Given the description of an element on the screen output the (x, y) to click on. 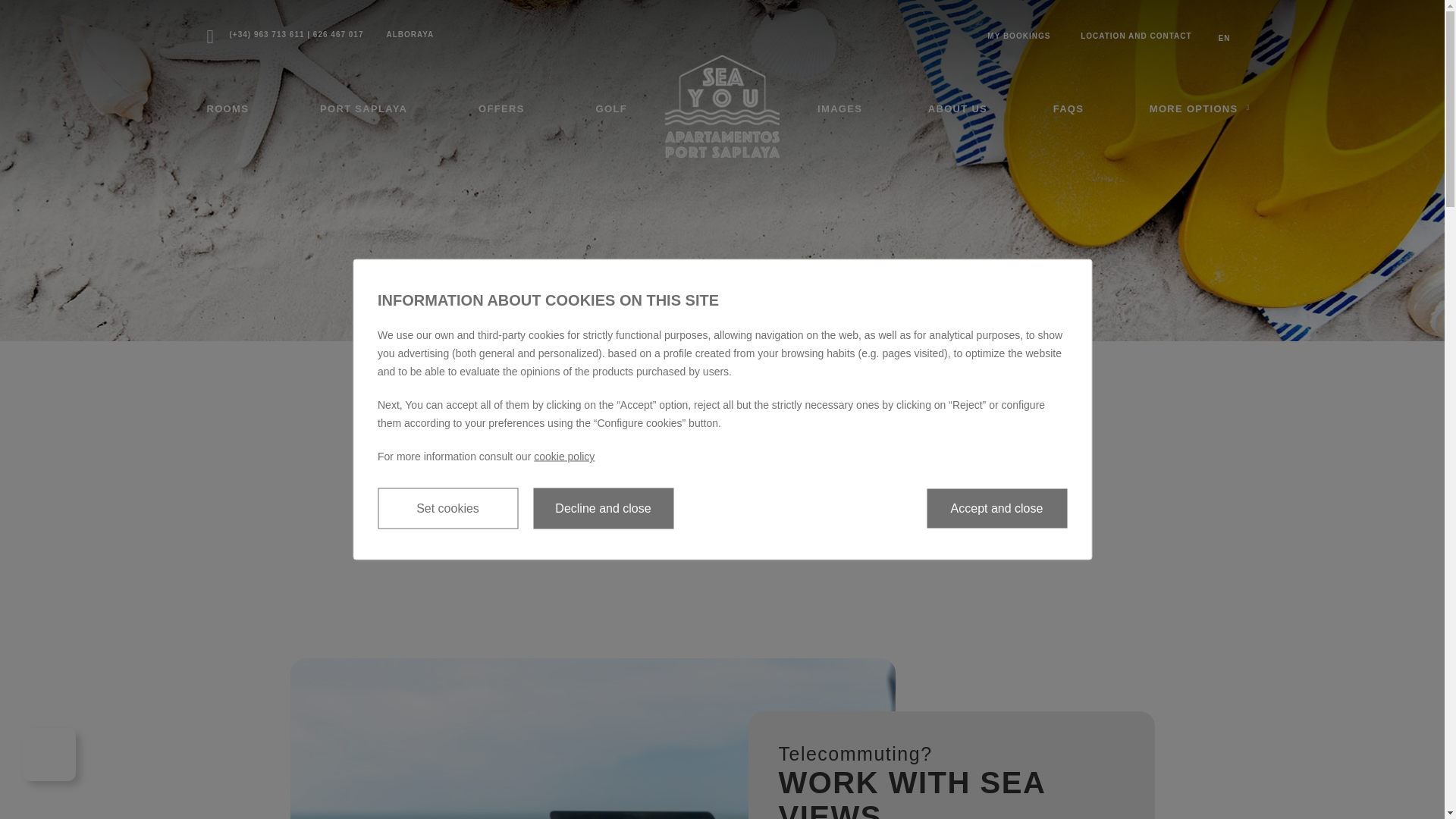
ABOUT US (957, 108)
LOCATION AND CONTACT (1133, 35)
IMAGES (838, 108)
ROOMS (227, 108)
FAQS (1068, 108)
OFFERS (501, 108)
PORT SAPLAYA (363, 108)
Sea You: Port Saplaya (721, 106)
GOLF (611, 108)
MY BOOKINGS (1017, 35)
